Given the description of an element on the screen output the (x, y) to click on. 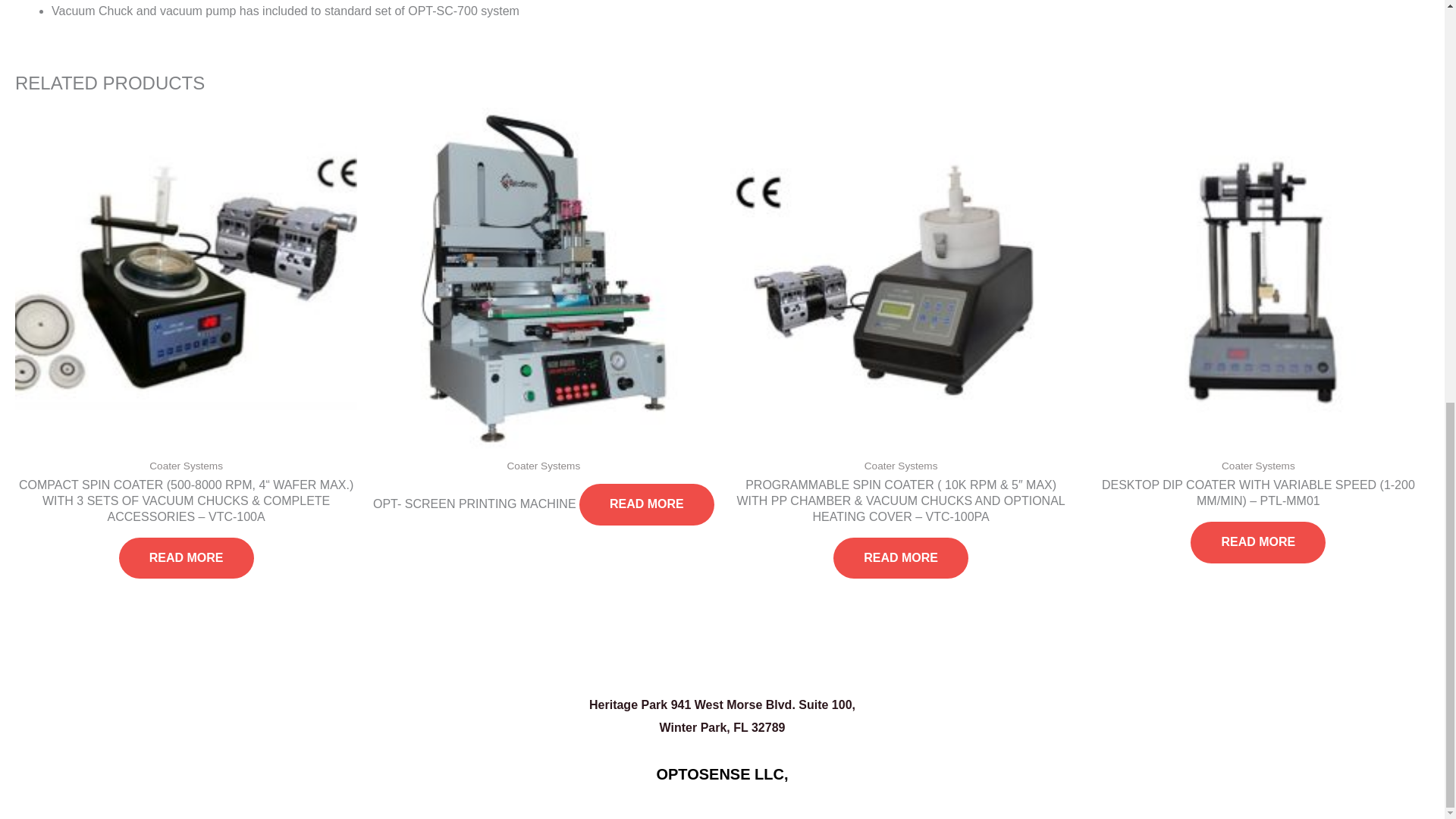
READ MORE (646, 504)
OPT- SCREEN PRINTING MACHINE (474, 507)
READ MORE (900, 558)
READ MORE (1257, 542)
READ MORE (186, 558)
